Given the description of an element on the screen output the (x, y) to click on. 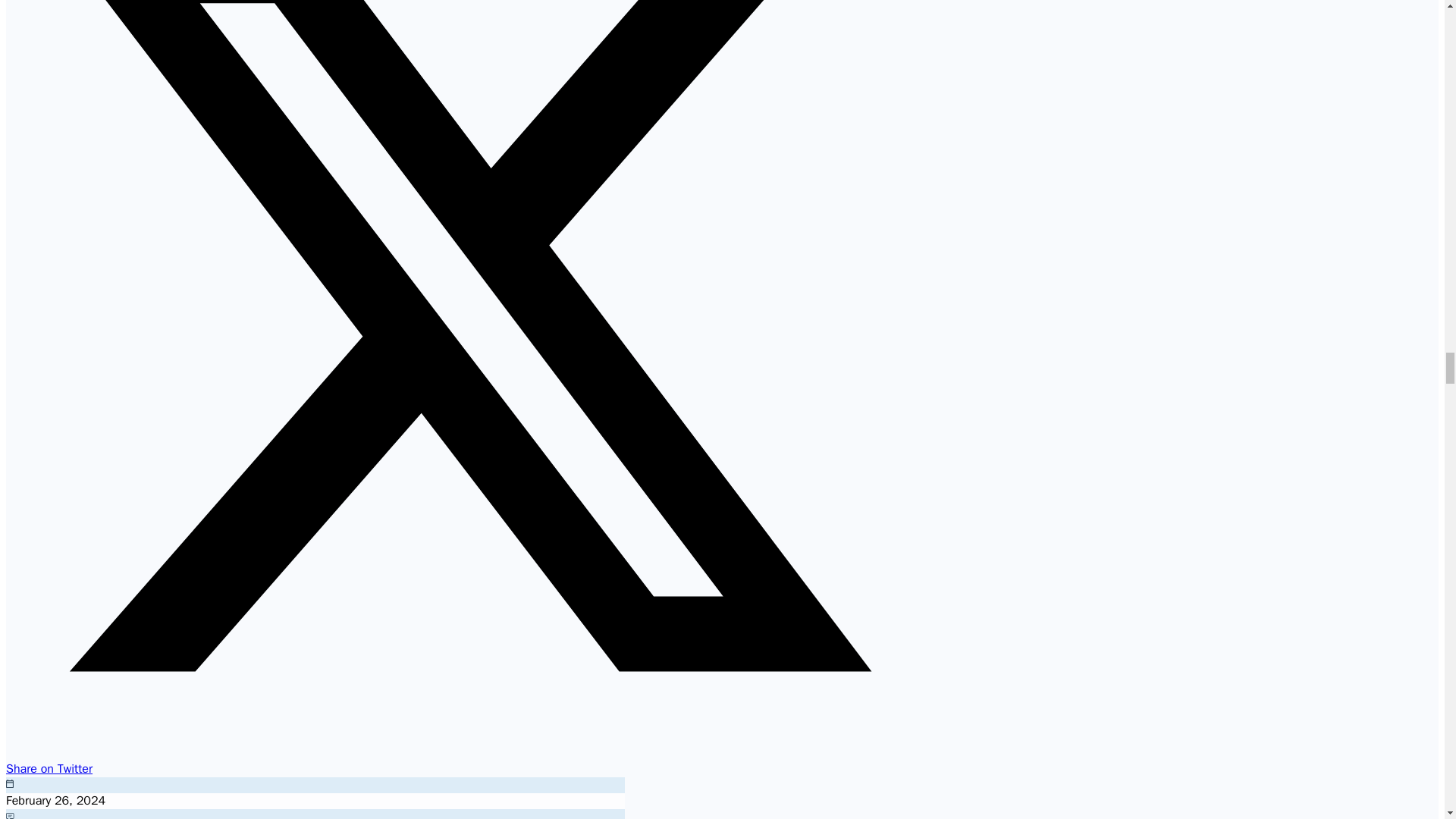
Share on Twitter (460, 761)
